Given the description of an element on the screen output the (x, y) to click on. 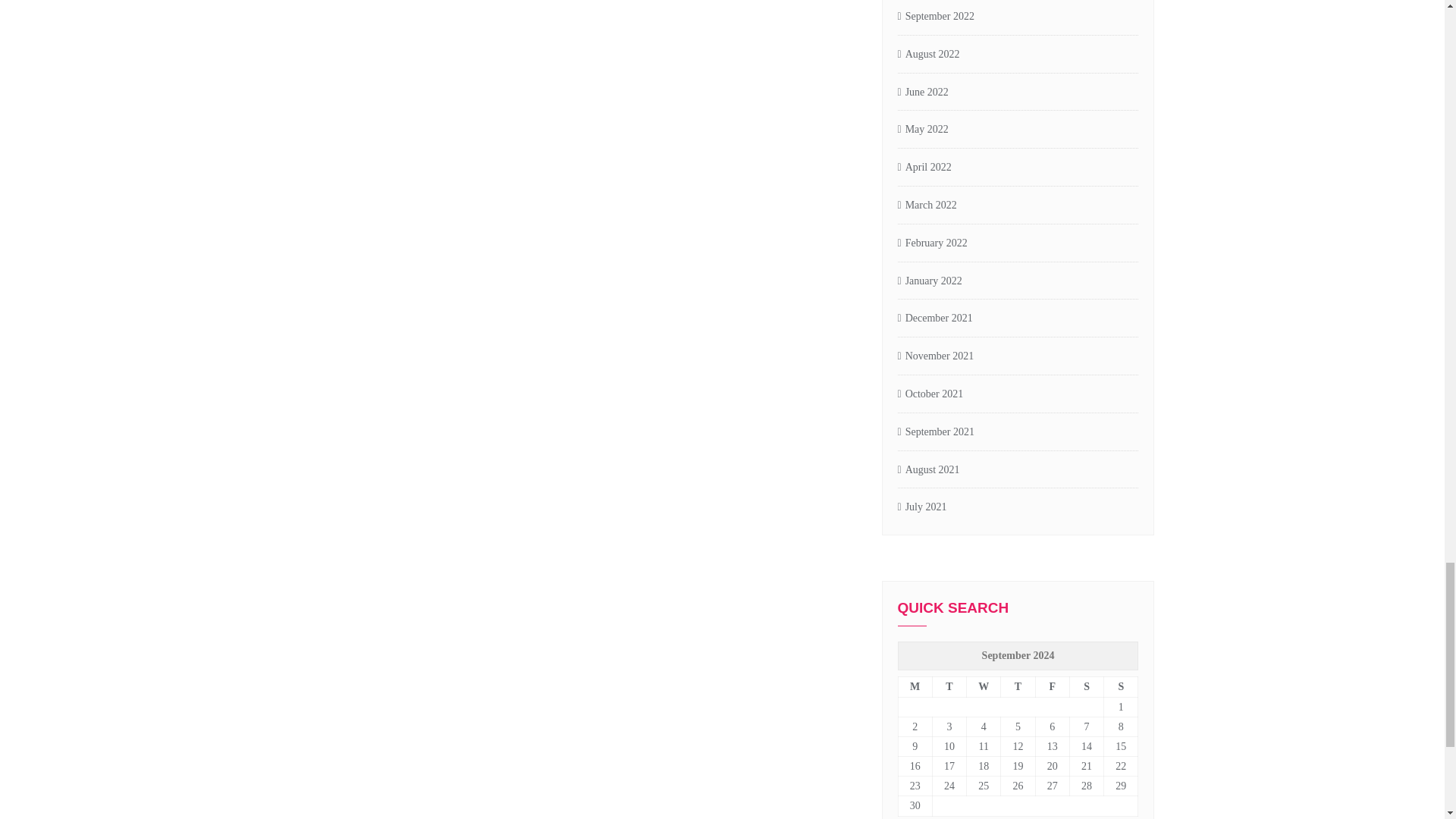
Monday (914, 686)
Tuesday (948, 686)
Friday (1051, 686)
Saturday (1085, 686)
Thursday (1018, 686)
Sunday (1120, 686)
Wednesday (983, 686)
